Given the description of an element on the screen output the (x, y) to click on. 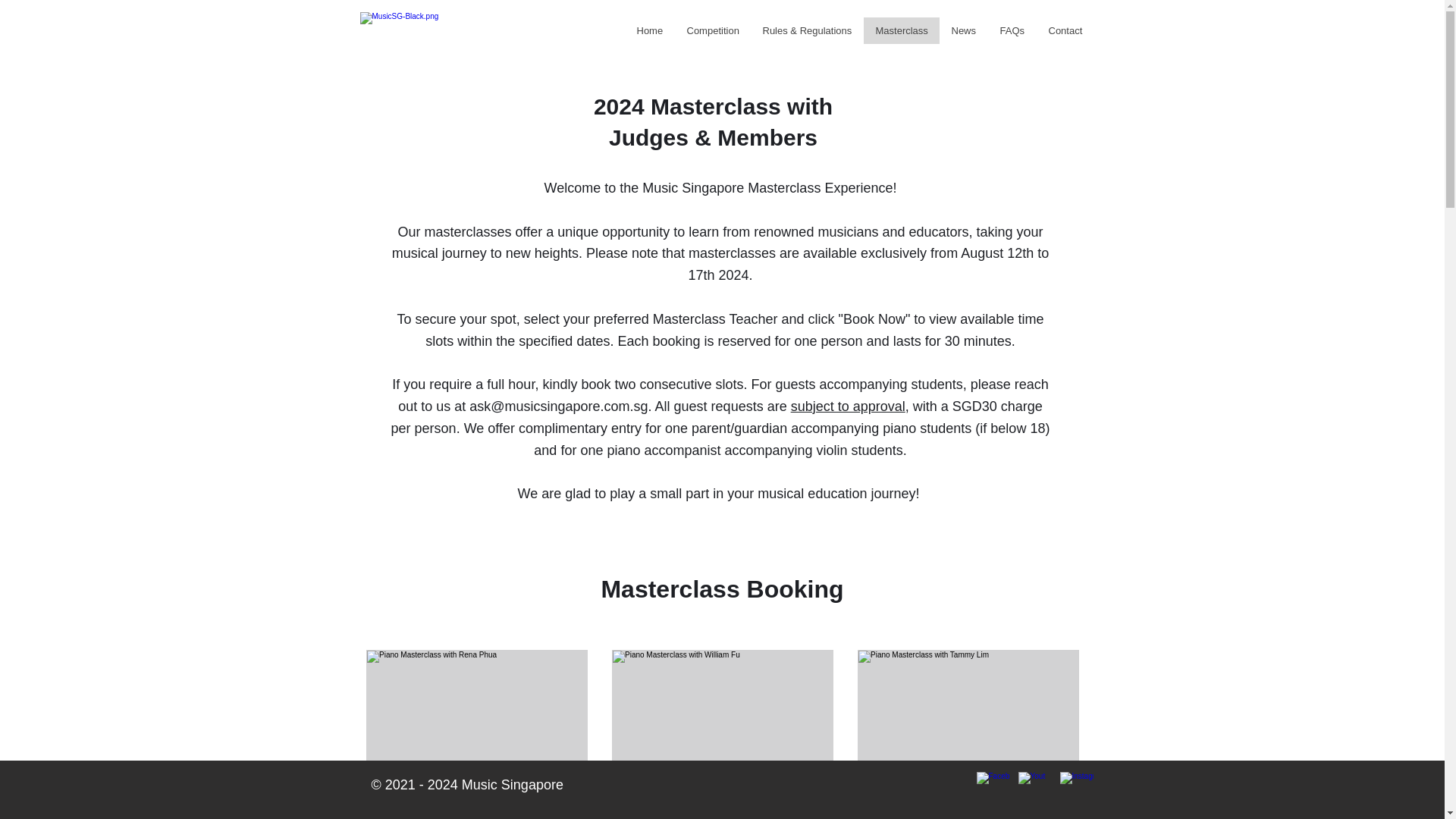
Masterclass (901, 30)
FAQs (1011, 30)
News (963, 30)
Home (649, 30)
Contact (1064, 30)
